Given the description of an element on the screen output the (x, y) to click on. 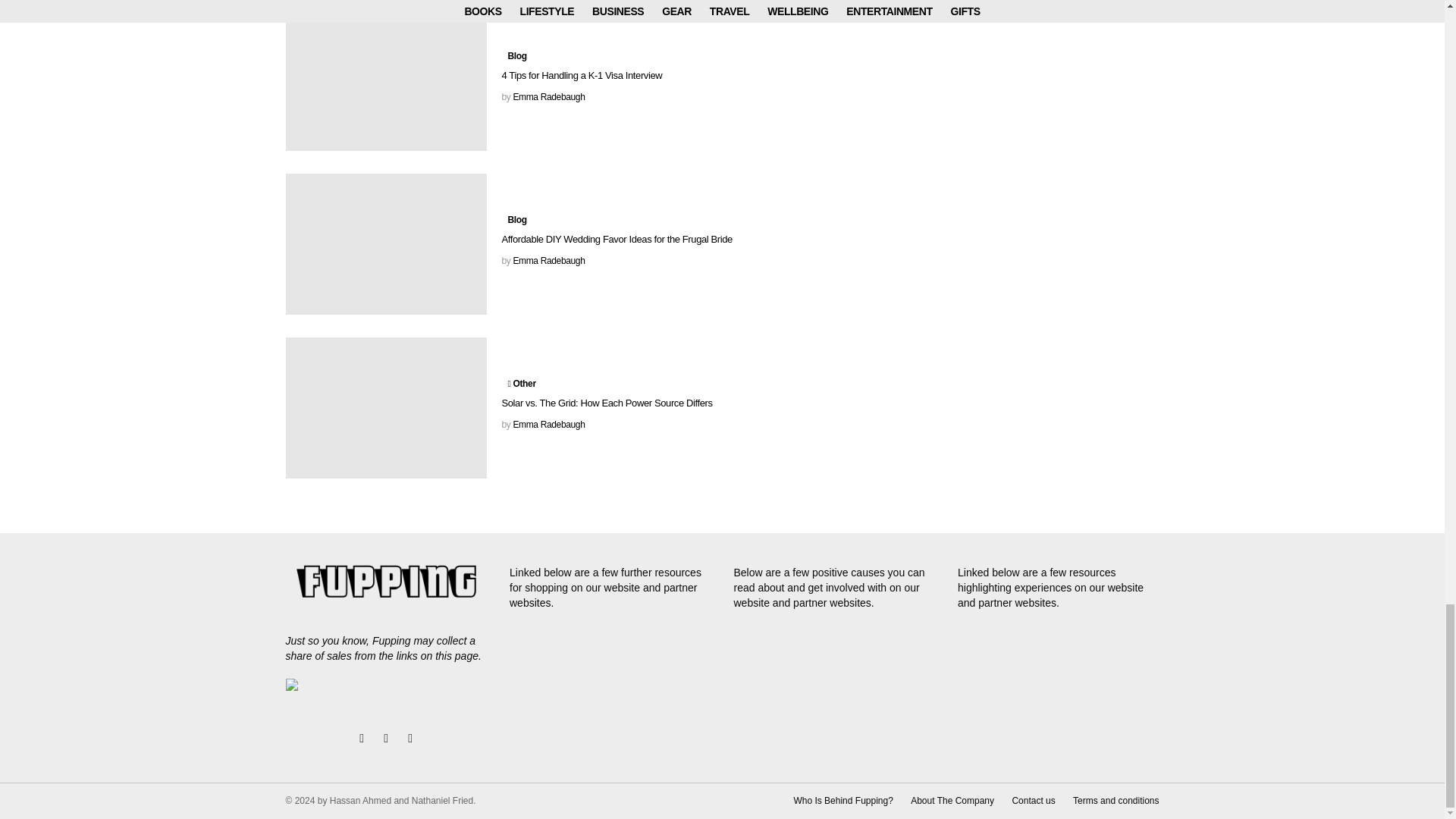
Affordable DIY Wedding Favor Ideas for the Frugal Bride (385, 243)
Solar vs. The Grid: How Each Power Source Differs (385, 407)
Posts by Emma Radebaugh (548, 260)
4 Tips for Handling a K-1 Visa Interview (385, 79)
Posts by Emma Radebaugh (548, 96)
Posts by Emma Radebaugh (548, 424)
